Given the description of an element on the screen output the (x, y) to click on. 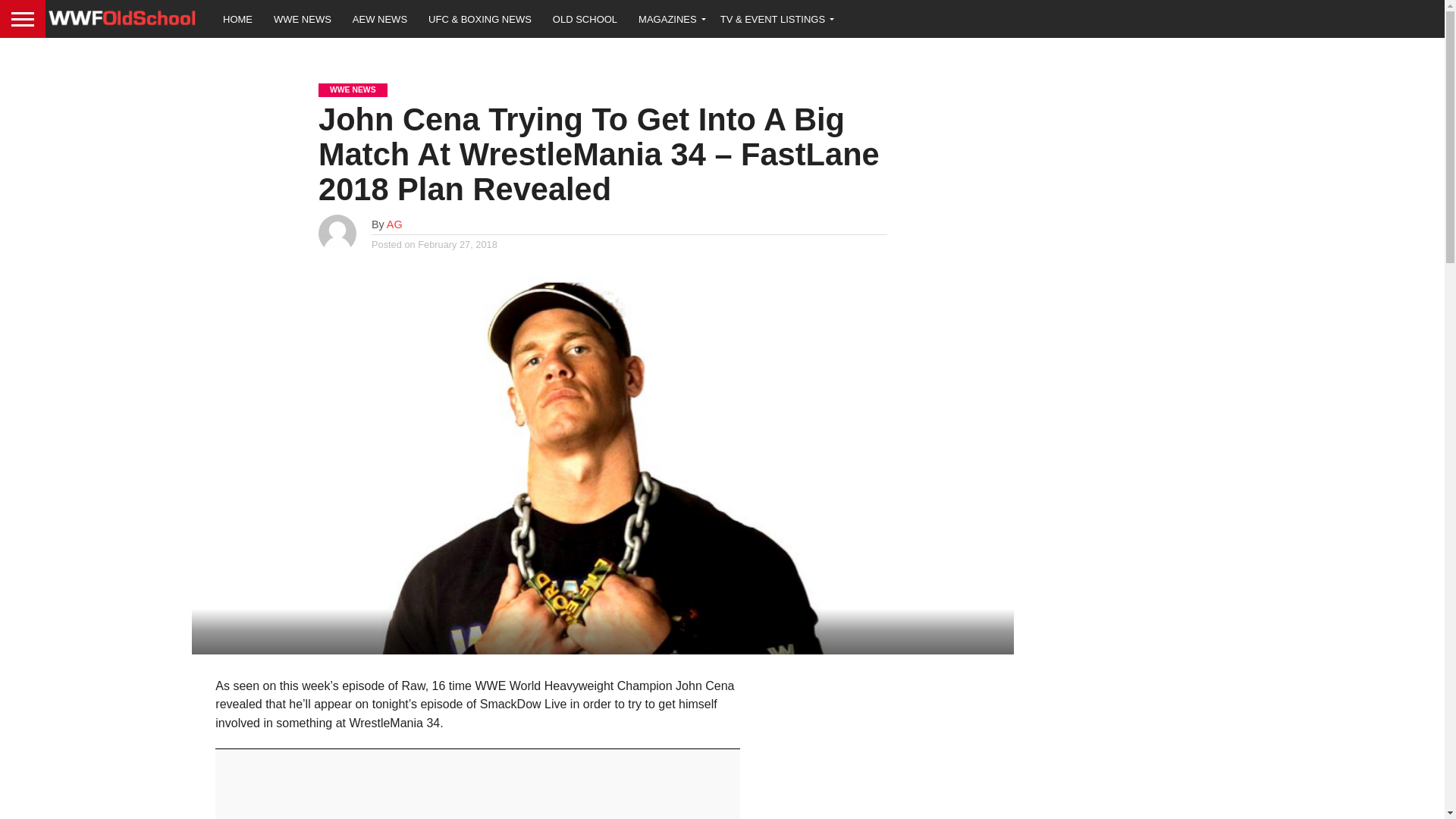
Posts by AG (395, 224)
WWE NEWS (302, 18)
HOME (237, 18)
MAGAZINES (668, 18)
AEW NEWS (379, 18)
OLD SCHOOL (584, 18)
